Given the description of an element on the screen output the (x, y) to click on. 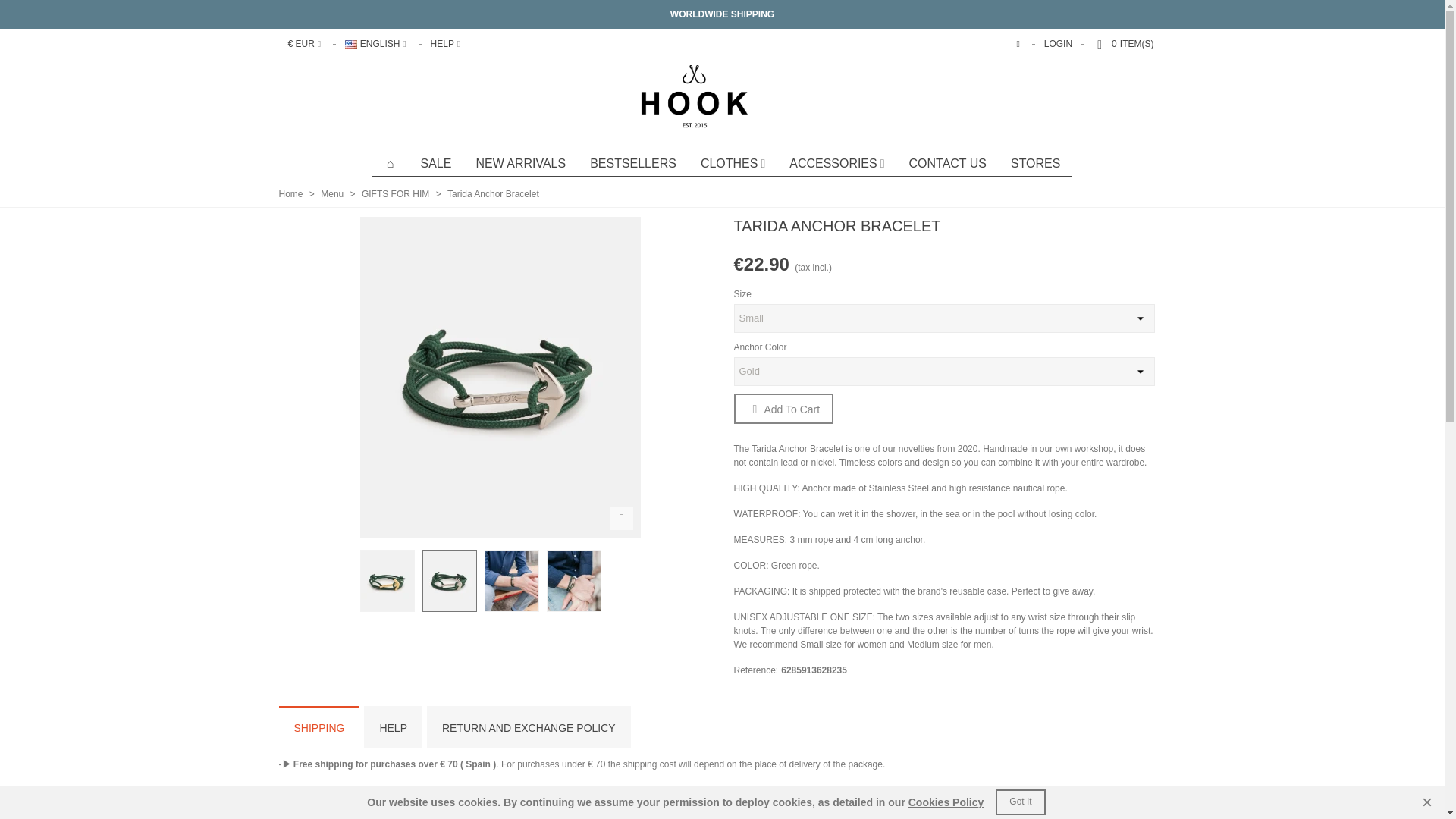
BESTSELLERS (633, 163)
NEW ARRIVALS (520, 163)
Sale (436, 163)
New Arrivals (520, 163)
Log in to your customer account (1056, 43)
CLOTHES (732, 163)
LOGIN (1056, 43)
SALE (436, 163)
View my shopping cart (1125, 43)
